Given the description of an element on the screen output the (x, y) to click on. 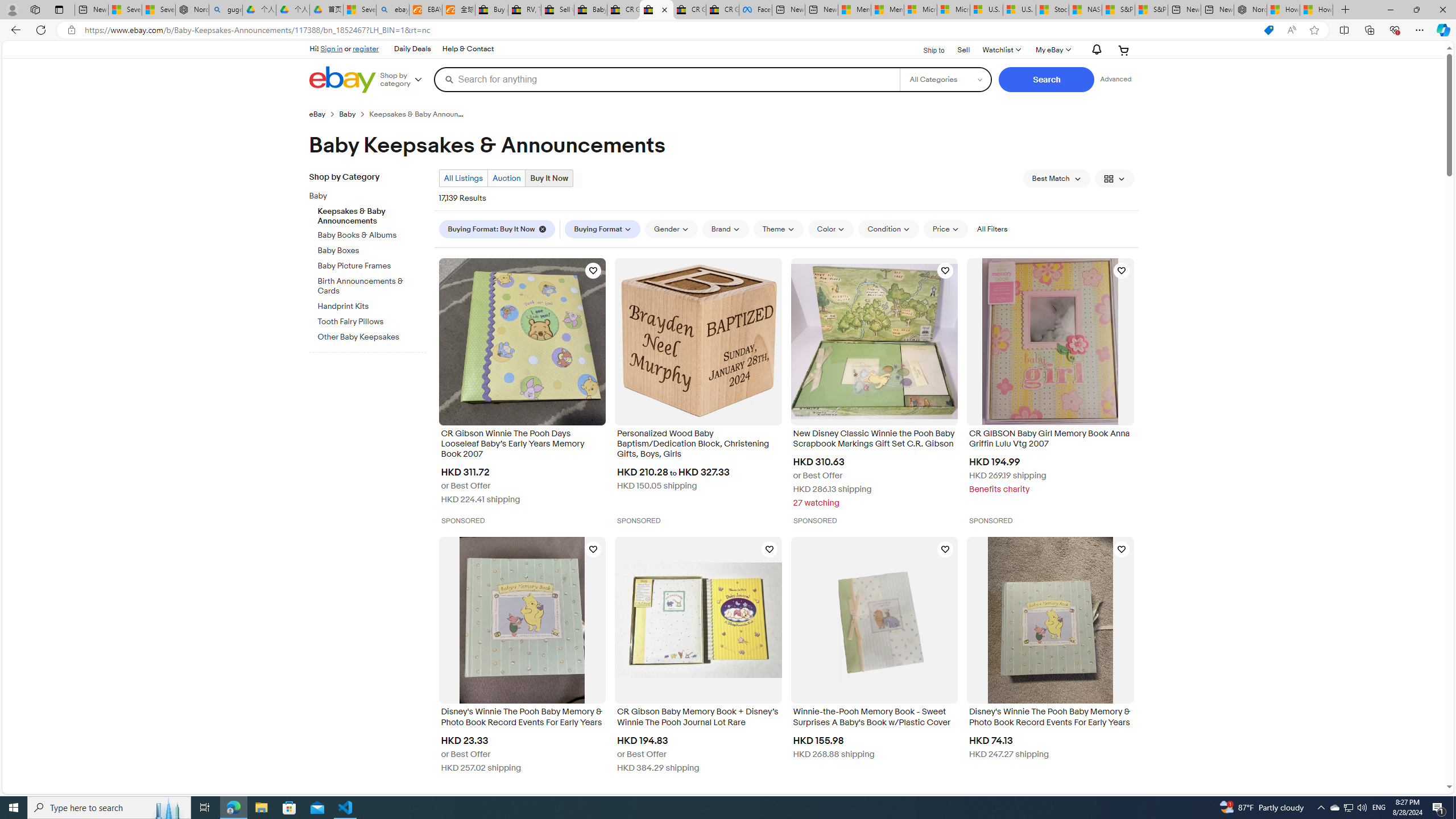
register (366, 48)
Sell (963, 49)
AutomationID: gh-eb-Alerts (1094, 49)
Sort: Best Match (1056, 178)
eBay (317, 113)
Birth Announcements & Cards (371, 286)
Theme (777, 229)
Baby (371, 194)
Gender (671, 229)
